Given the description of an element on the screen output the (x, y) to click on. 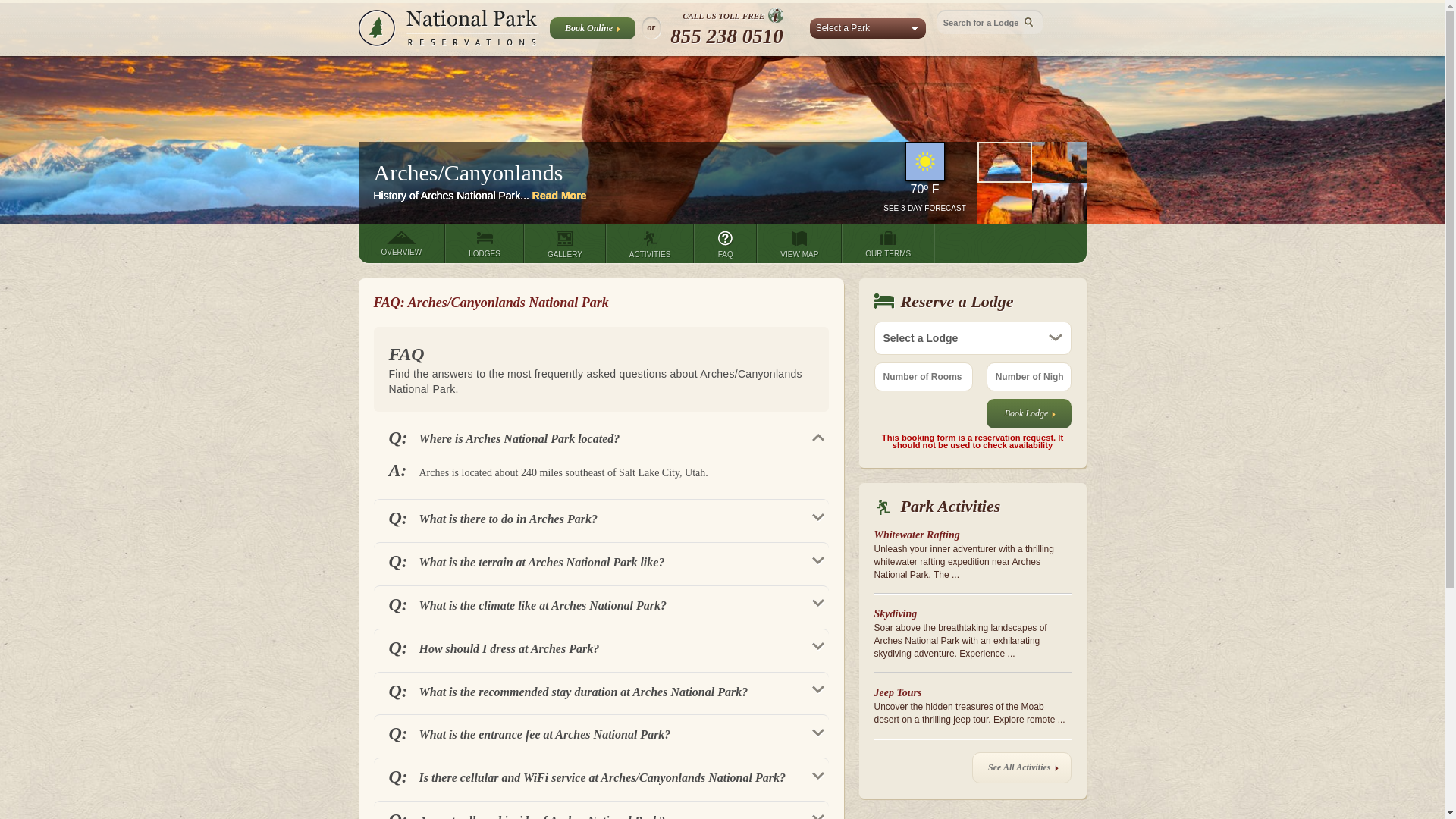
ACTIVITIES (649, 242)
LODGES (484, 242)
FAQ (725, 242)
Select a Lodge (971, 337)
Book Online (591, 28)
855 238 0510 (726, 36)
GALLERY (564, 242)
Book Lodge (1029, 413)
Skydiving (895, 613)
Read More (559, 195)
